Given the description of an element on the screen output the (x, y) to click on. 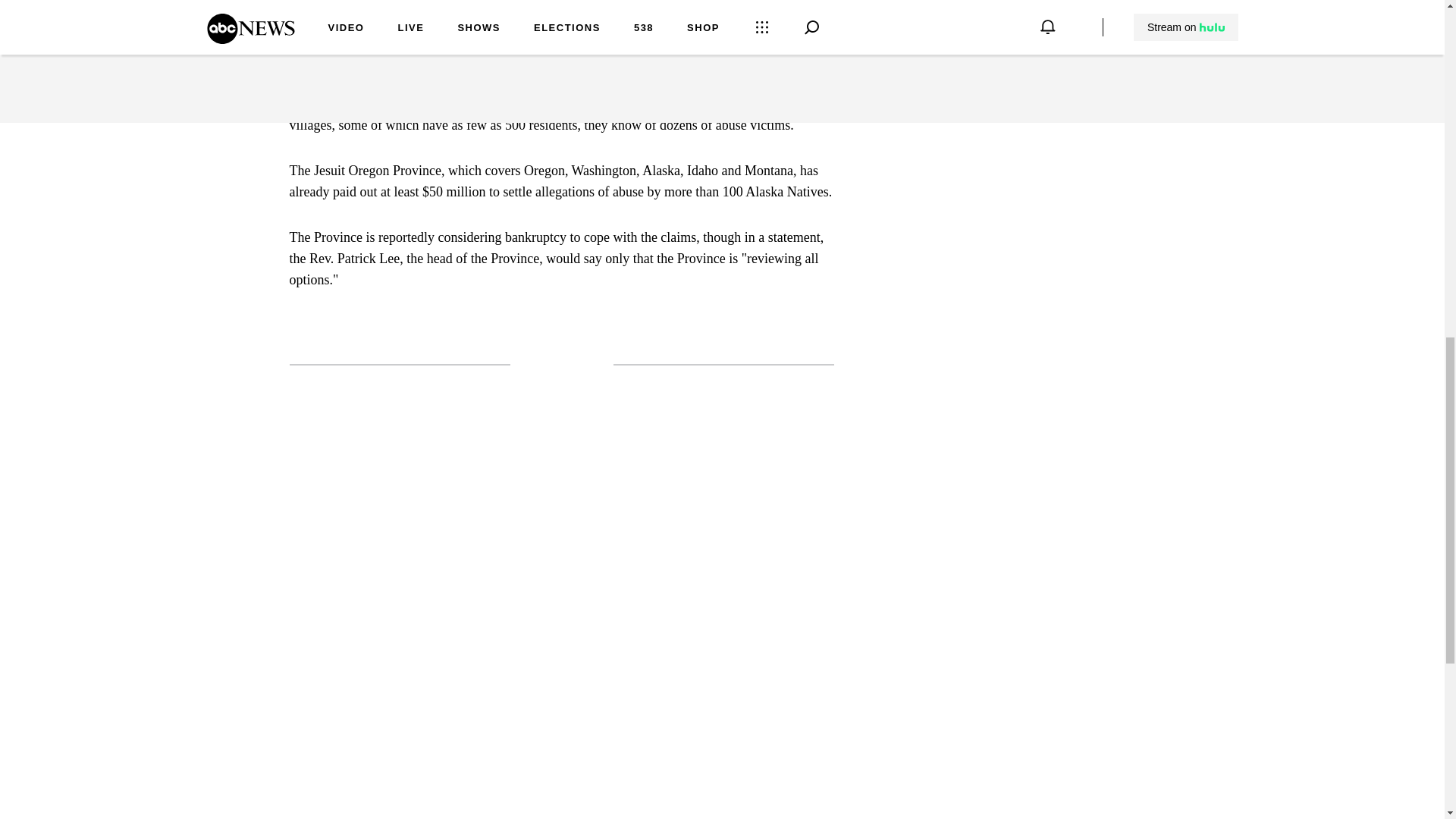
alleged abuse (740, 1)
